Given the description of an element on the screen output the (x, y) to click on. 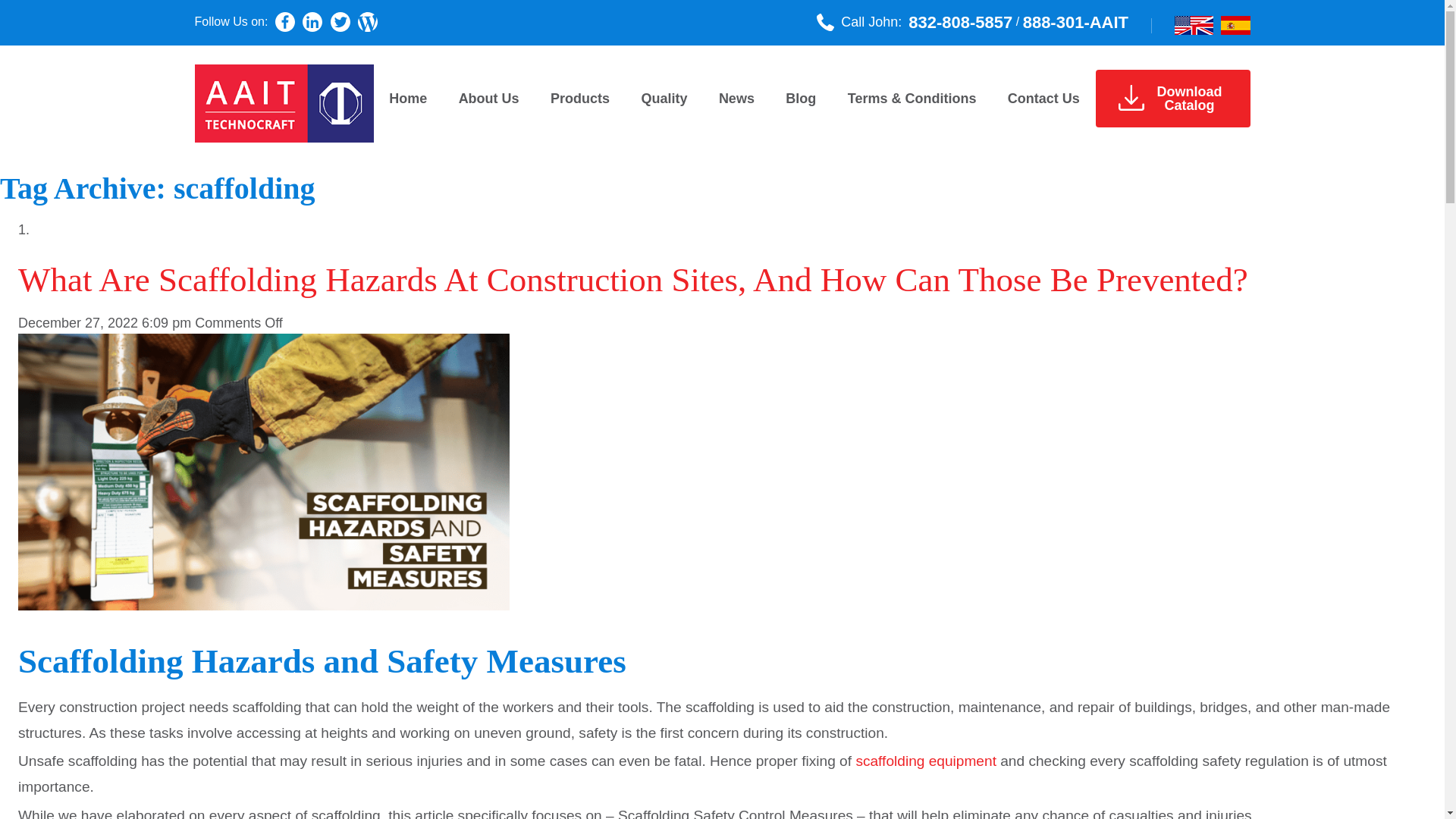
832-808-5857 (1171, 98)
Download Brochure (959, 22)
888-301-AAIT (1130, 97)
Spain Flag (1075, 22)
AAIT Scaffold (1235, 25)
